Given the description of an element on the screen output the (x, y) to click on. 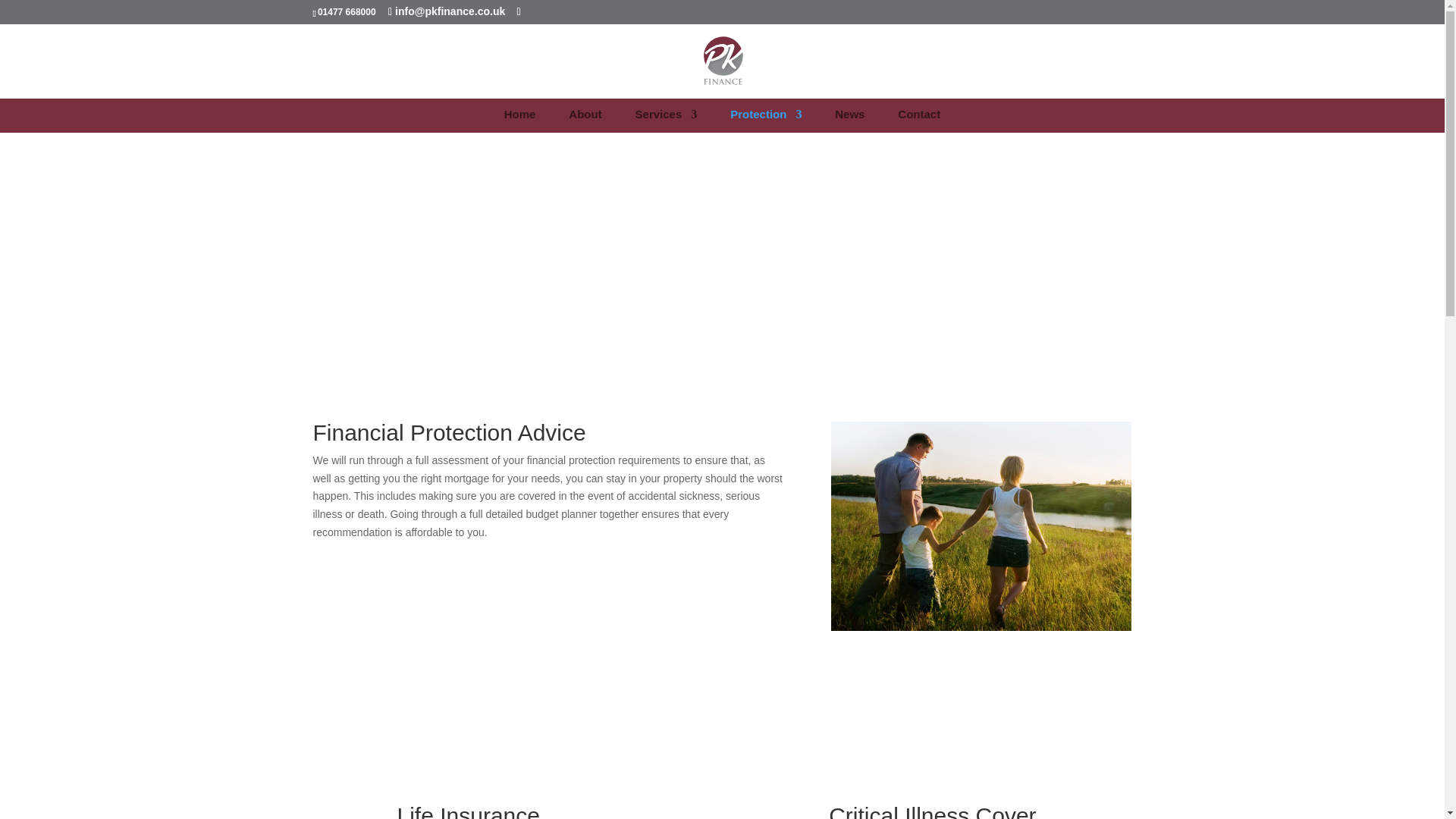
Financial Protection Advice (981, 525)
Services (665, 125)
Home (519, 125)
About (585, 125)
Protection (766, 125)
Contact (919, 125)
